Given the description of an element on the screen output the (x, y) to click on. 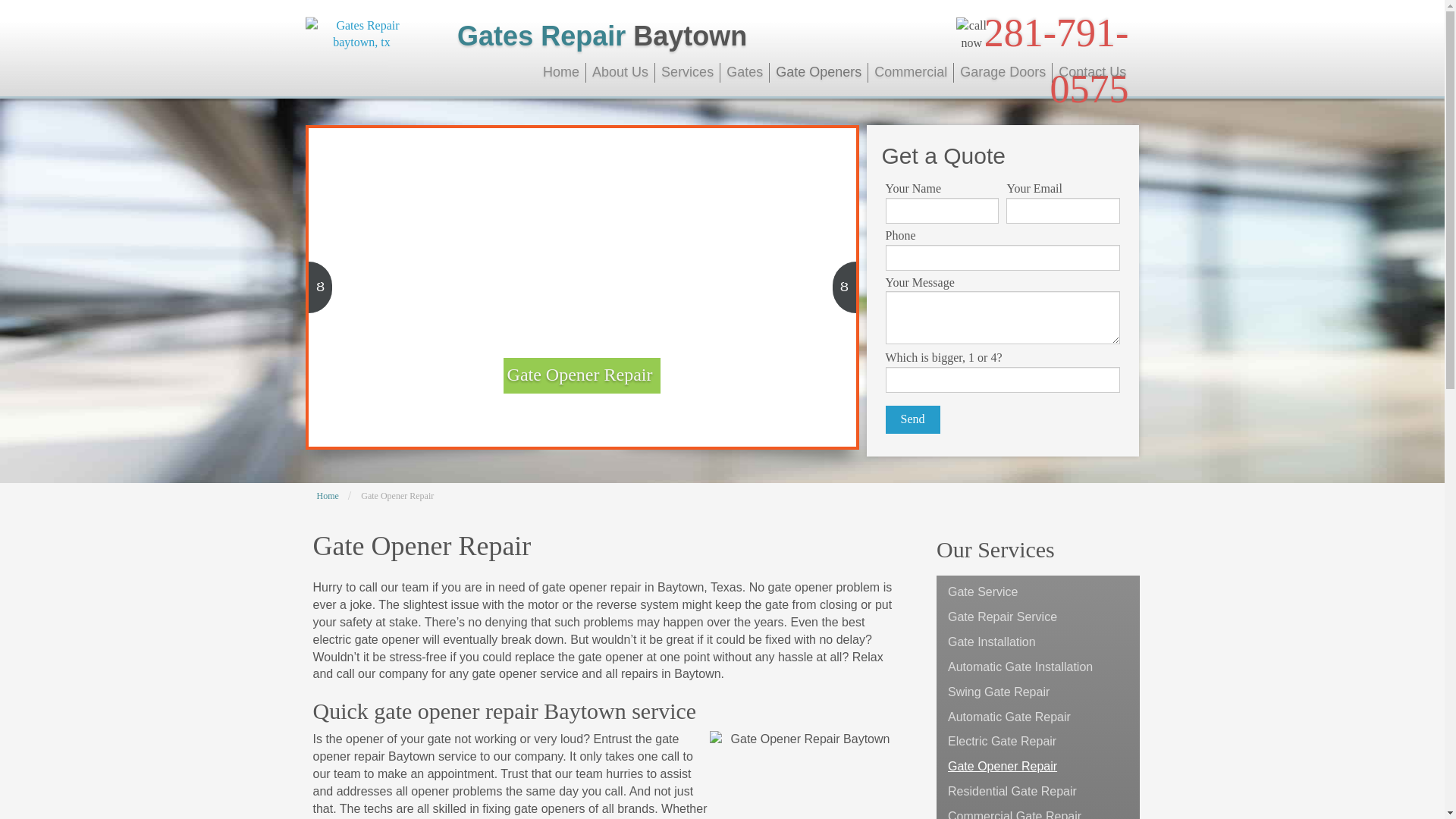
Gate Openers (818, 72)
Gates (745, 72)
About Us (620, 72)
Commercial (910, 72)
281-791-0575 (1056, 60)
Send (912, 419)
Services (687, 72)
Home (561, 72)
